Given the description of an element on the screen output the (x, y) to click on. 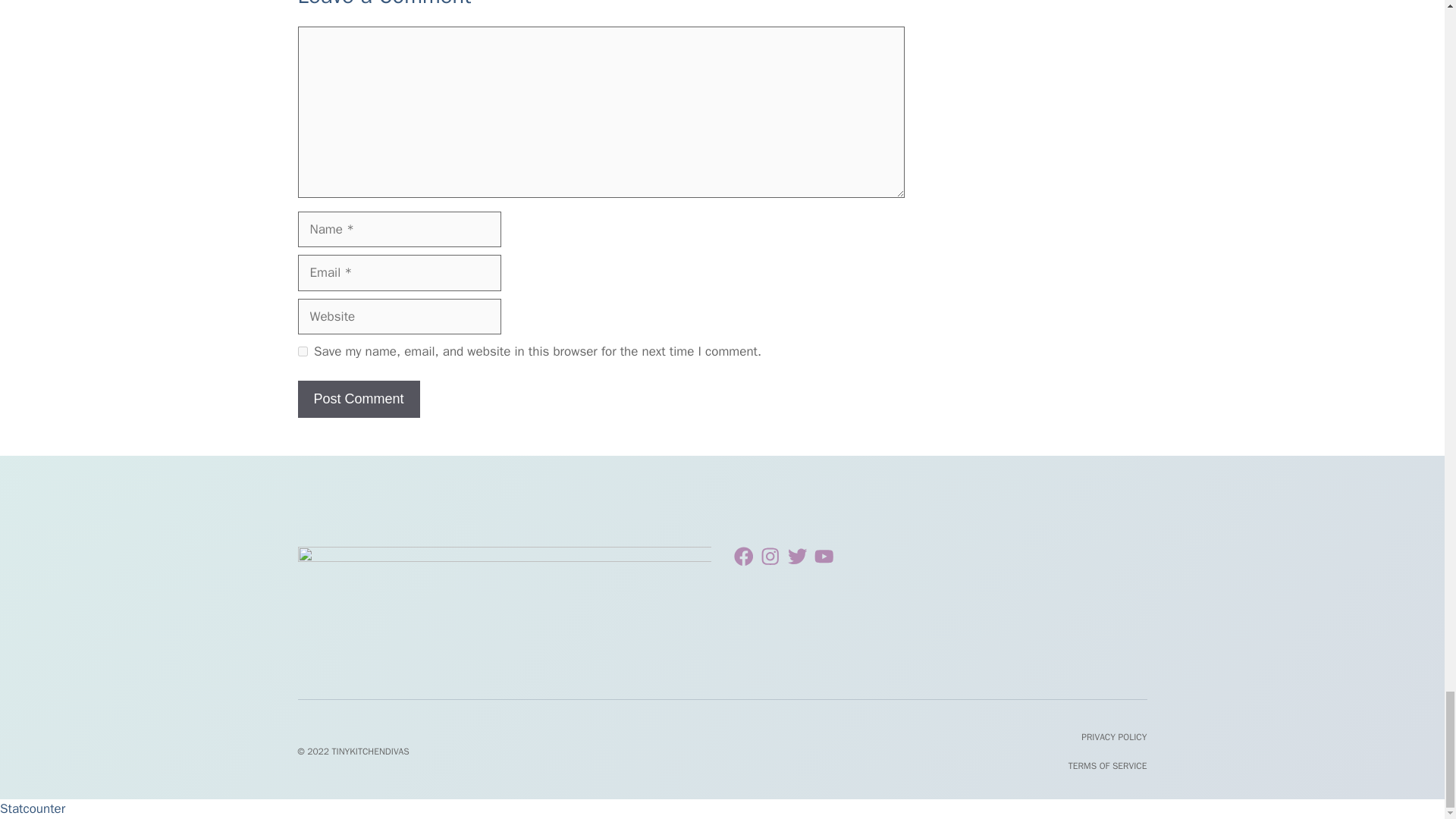
yes (302, 351)
Post Comment (358, 398)
